Given the description of an element on the screen output the (x, y) to click on. 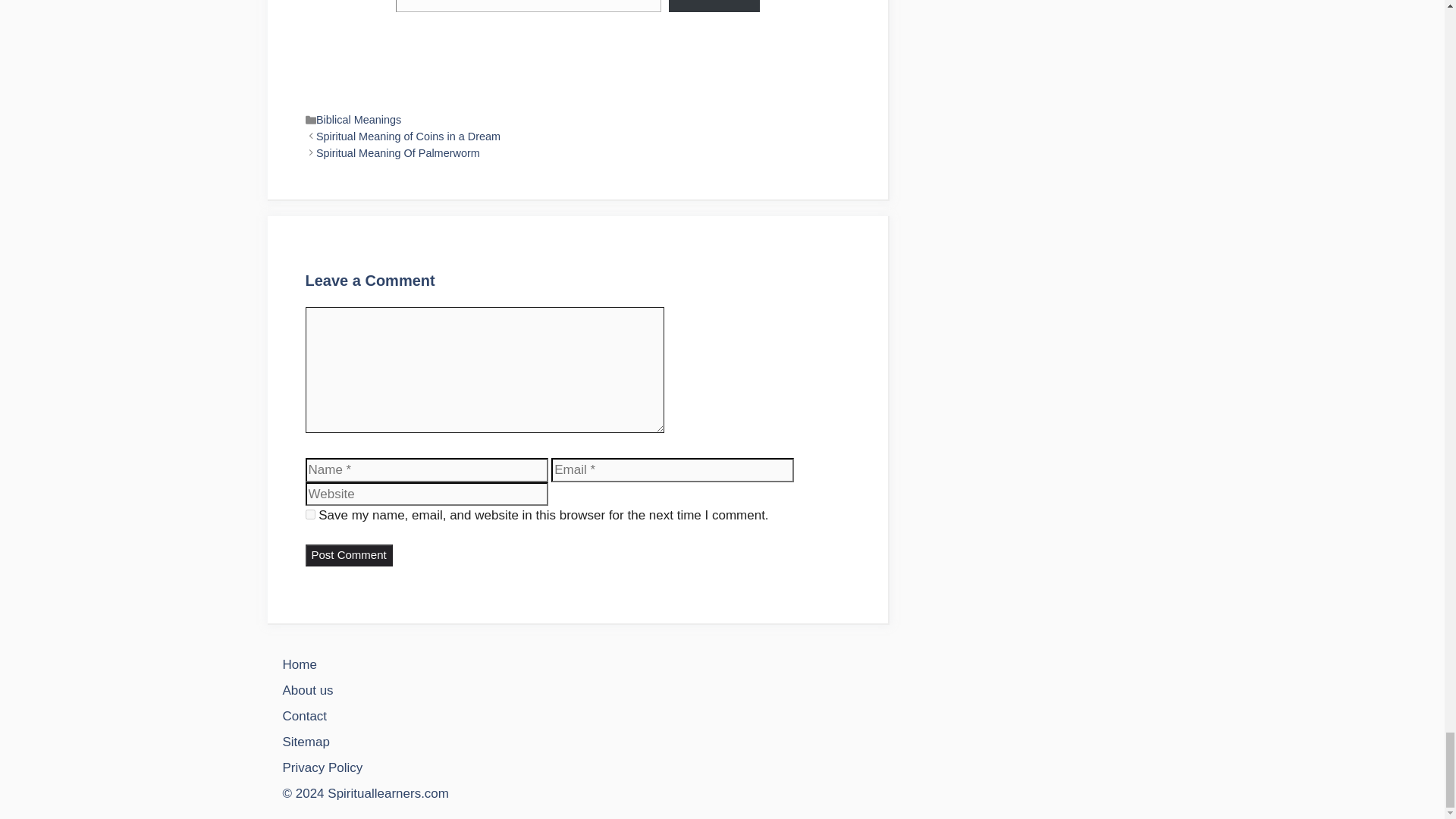
Sitemap (305, 741)
About us (307, 690)
yes (309, 514)
Contact (304, 716)
Spiritual Meaning Of Palmerworm (397, 152)
Home (298, 664)
Subscribe (713, 6)
Spiritual Meaning of Coins in a Dream (407, 136)
Biblical Meanings (358, 119)
Please fill in this field. (529, 6)
Post Comment (347, 555)
Post Comment (347, 555)
